Given the description of an element on the screen output the (x, y) to click on. 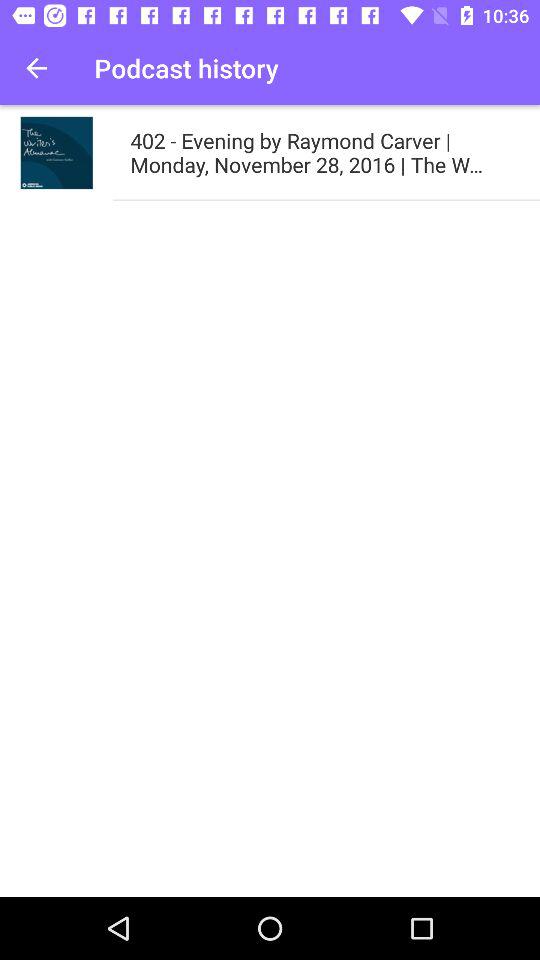
press the icon to the left of podcast history icon (36, 68)
